Given the description of an element on the screen output the (x, y) to click on. 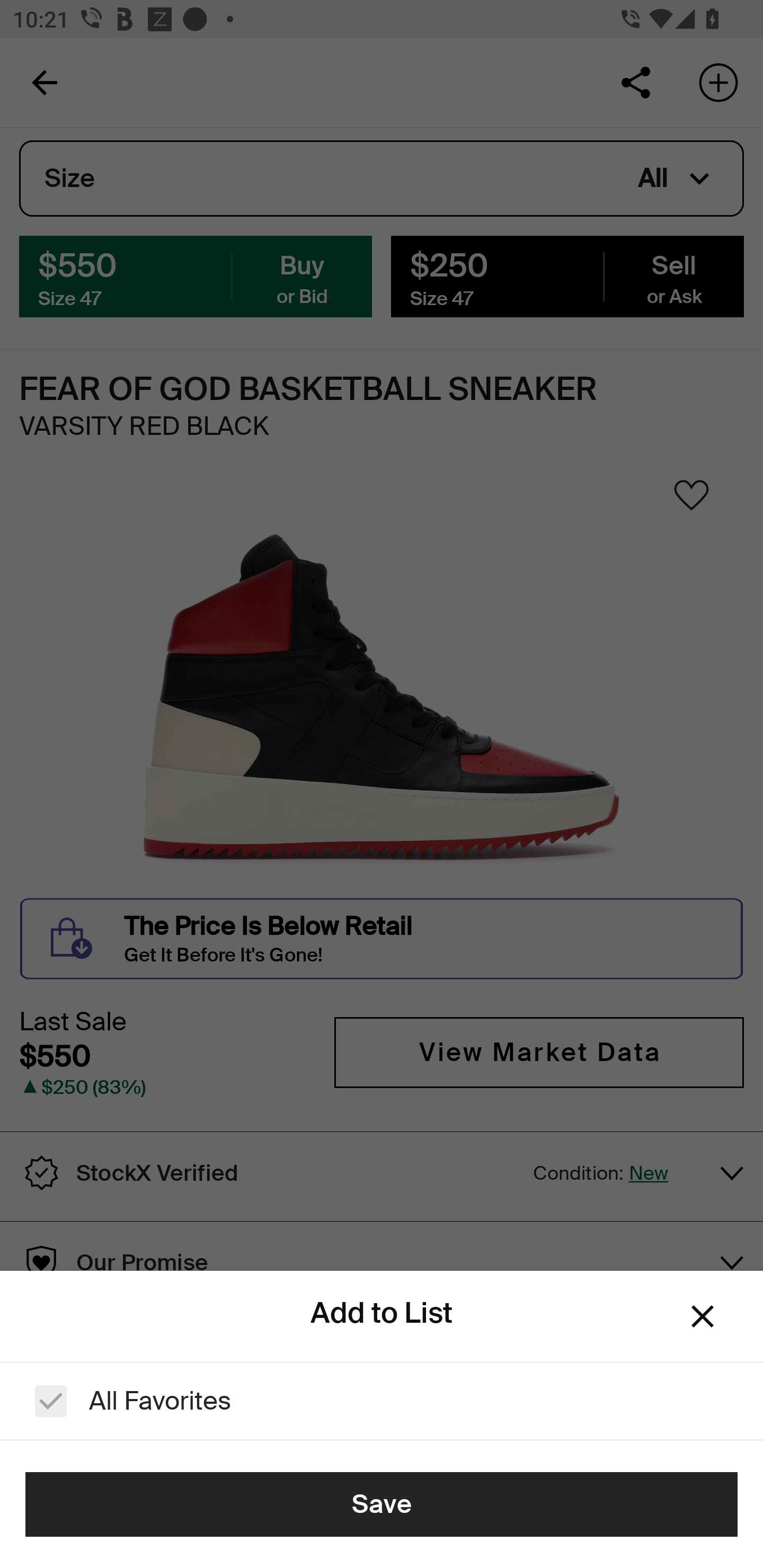
Dismiss (702, 1315)
All Favorites (381, 1400)
Save (381, 1504)
